Given the description of an element on the screen output the (x, y) to click on. 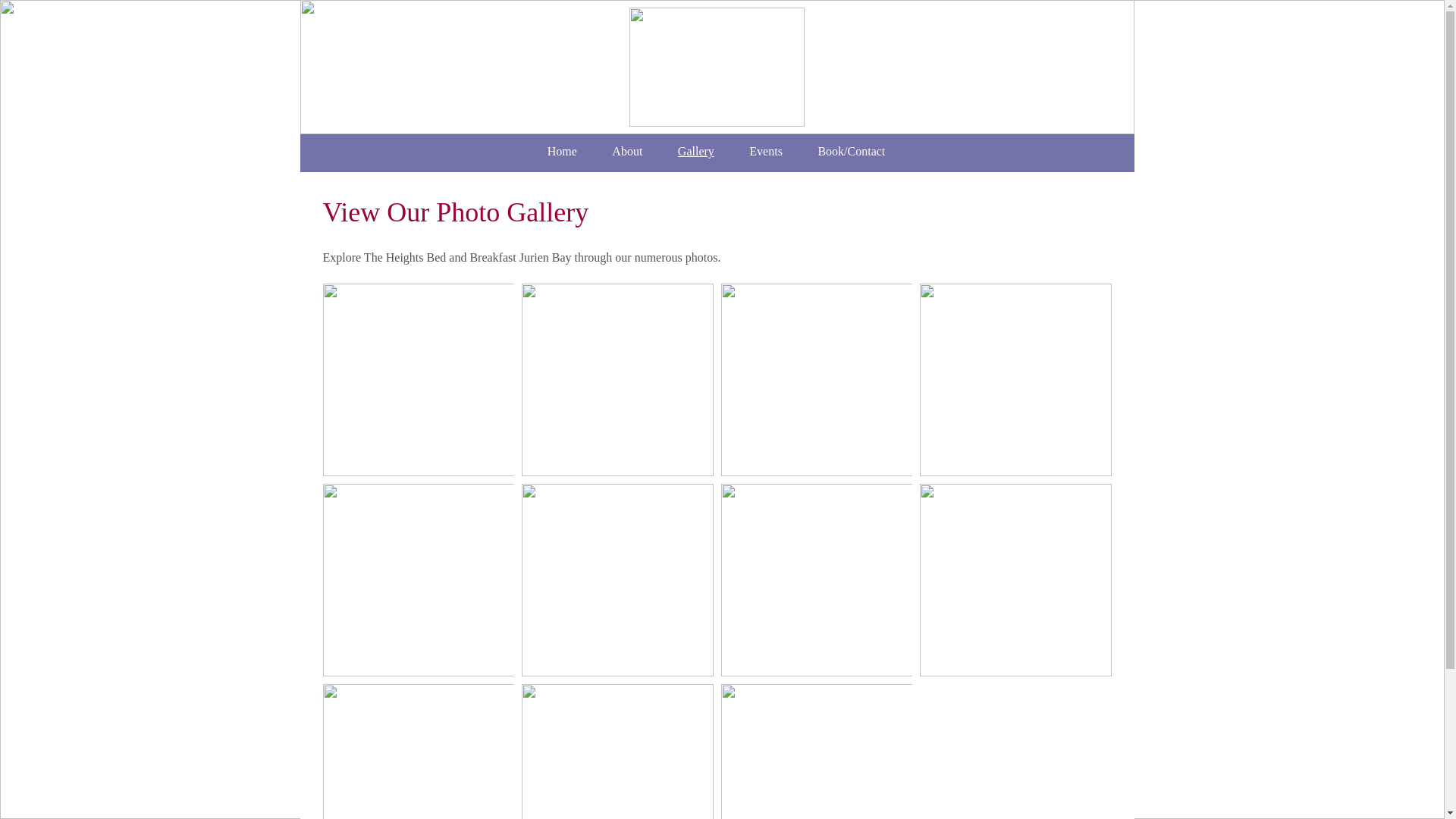
About Element type: text (627, 151)
Gallery Element type: text (695, 151)
Events Element type: text (765, 151)
Book/Contact Element type: text (851, 151)
Home Element type: text (561, 151)
